Given the description of an element on the screen output the (x, y) to click on. 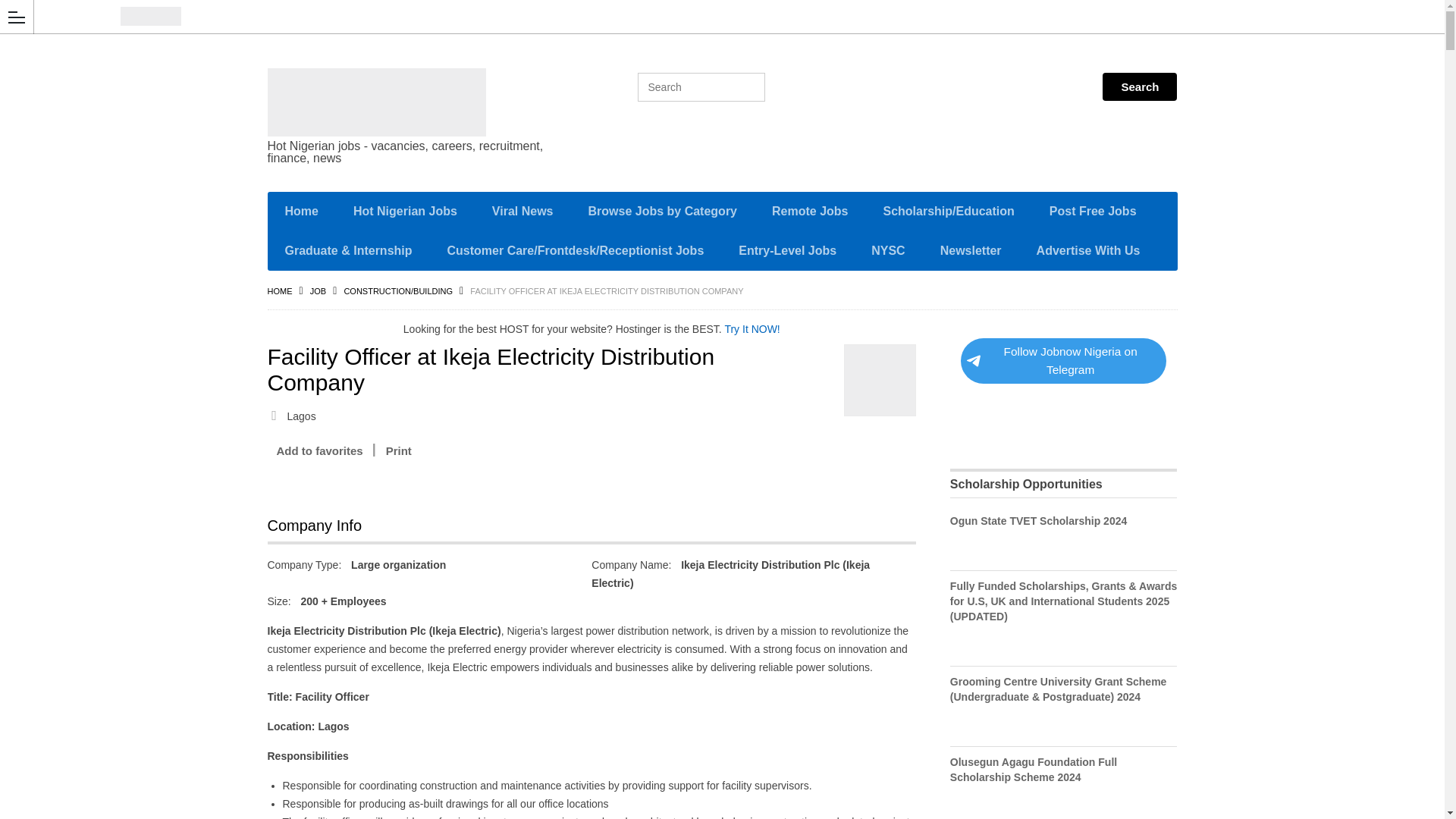
Add to favorites (318, 450)
Hot Nigerian Jobs (405, 210)
NYSC (887, 250)
Viral News (522, 210)
HOME (279, 290)
Advertise With Us (1088, 250)
Remote Jobs (809, 210)
Post Free Jobs (1093, 210)
Search (1139, 86)
Search (1139, 86)
